Given the description of an element on the screen output the (x, y) to click on. 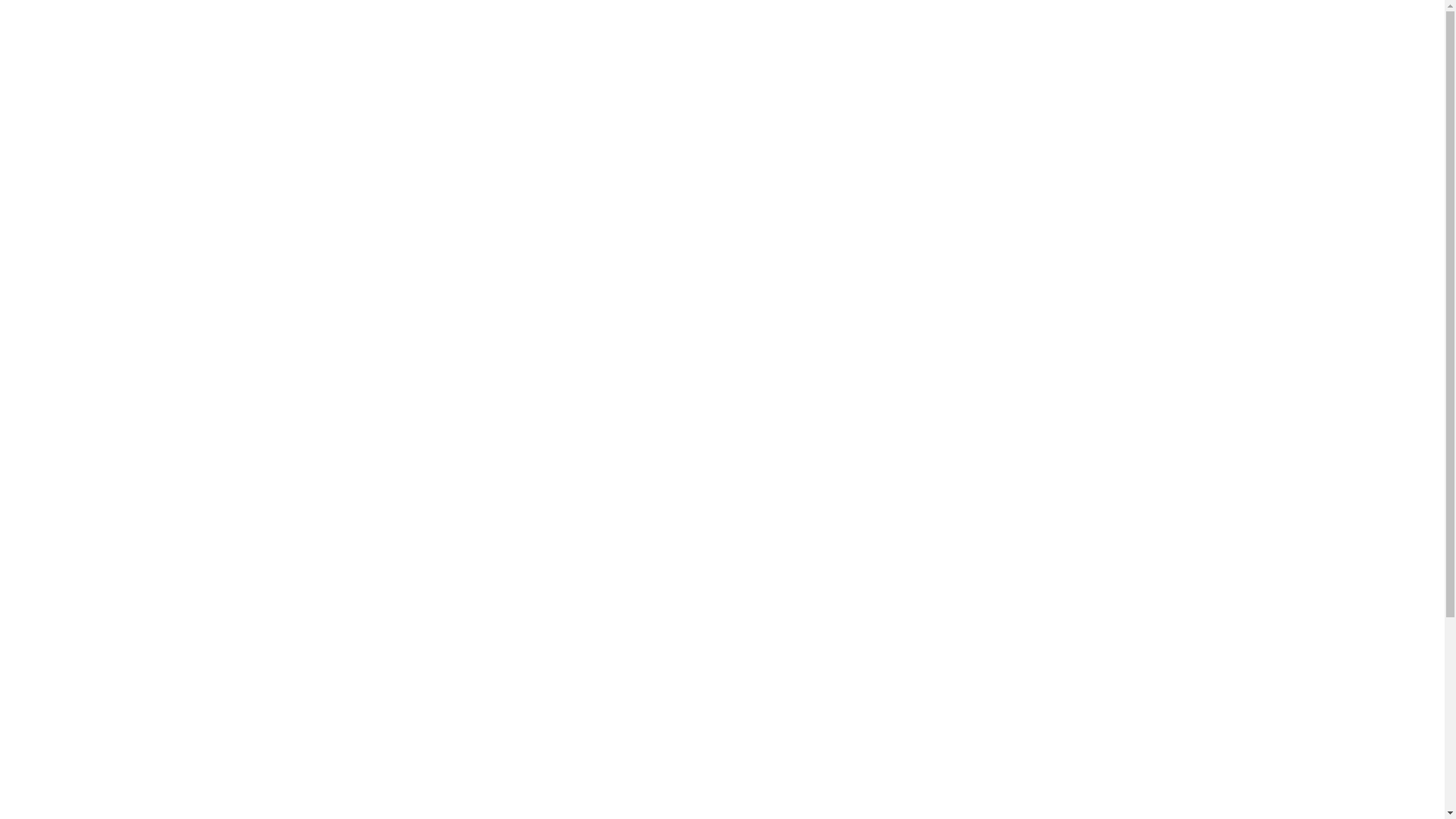
speakerbox Element type: text (413, 419)
+ Element type: text (1134, 75)
